Given the description of an element on the screen output the (x, y) to click on. 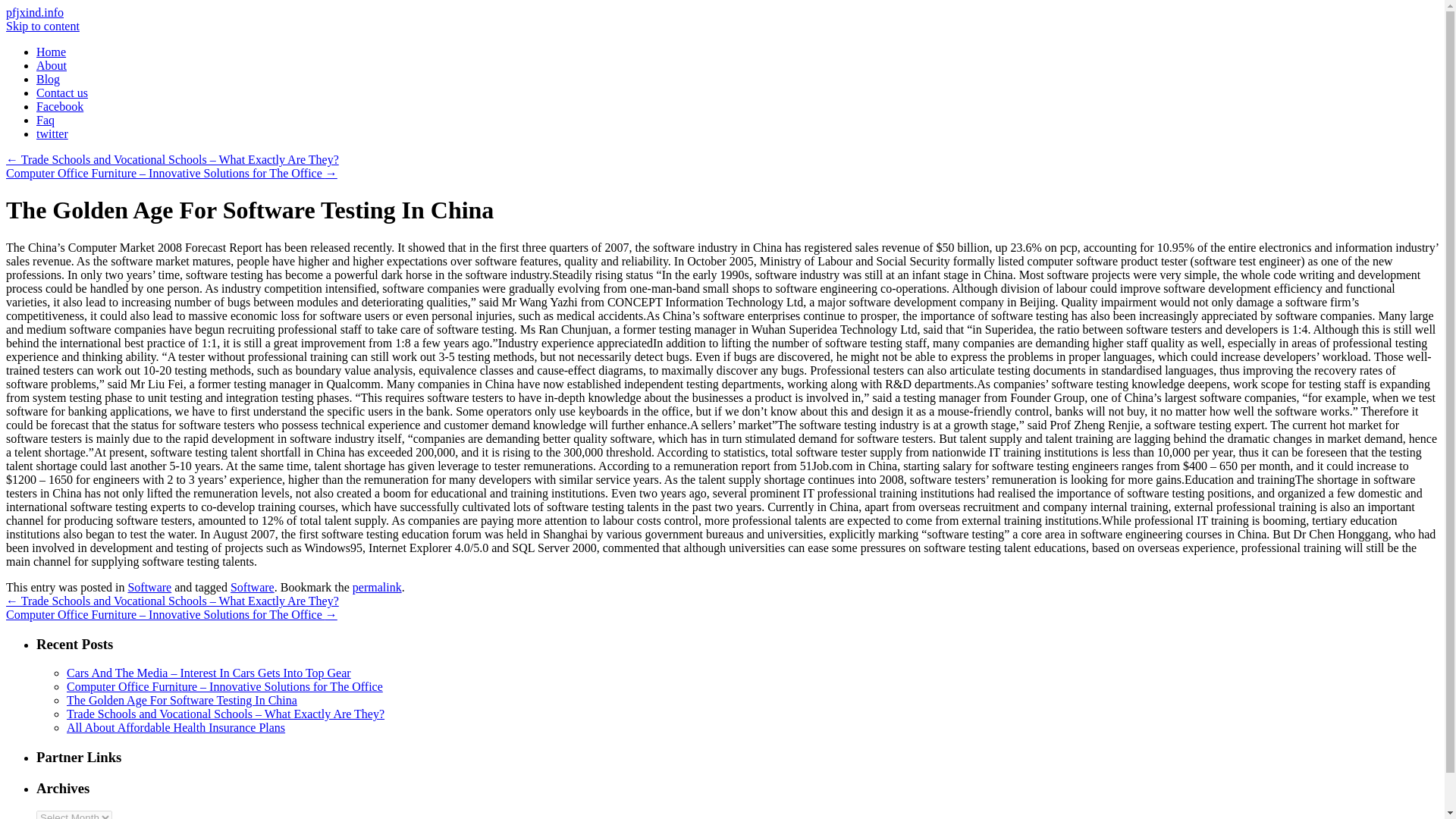
Home (50, 51)
twitter (52, 133)
About (51, 65)
Contact us (61, 92)
The Golden Age For Software Testing In China (181, 699)
View all posts in Software (149, 586)
Software (252, 586)
Facebook (59, 106)
Faq (45, 119)
Software (149, 586)
Facebook (59, 106)
Contact us (61, 92)
pfjxind.info (34, 11)
Blog (47, 78)
Skip to content (42, 25)
